Given the description of an element on the screen output the (x, y) to click on. 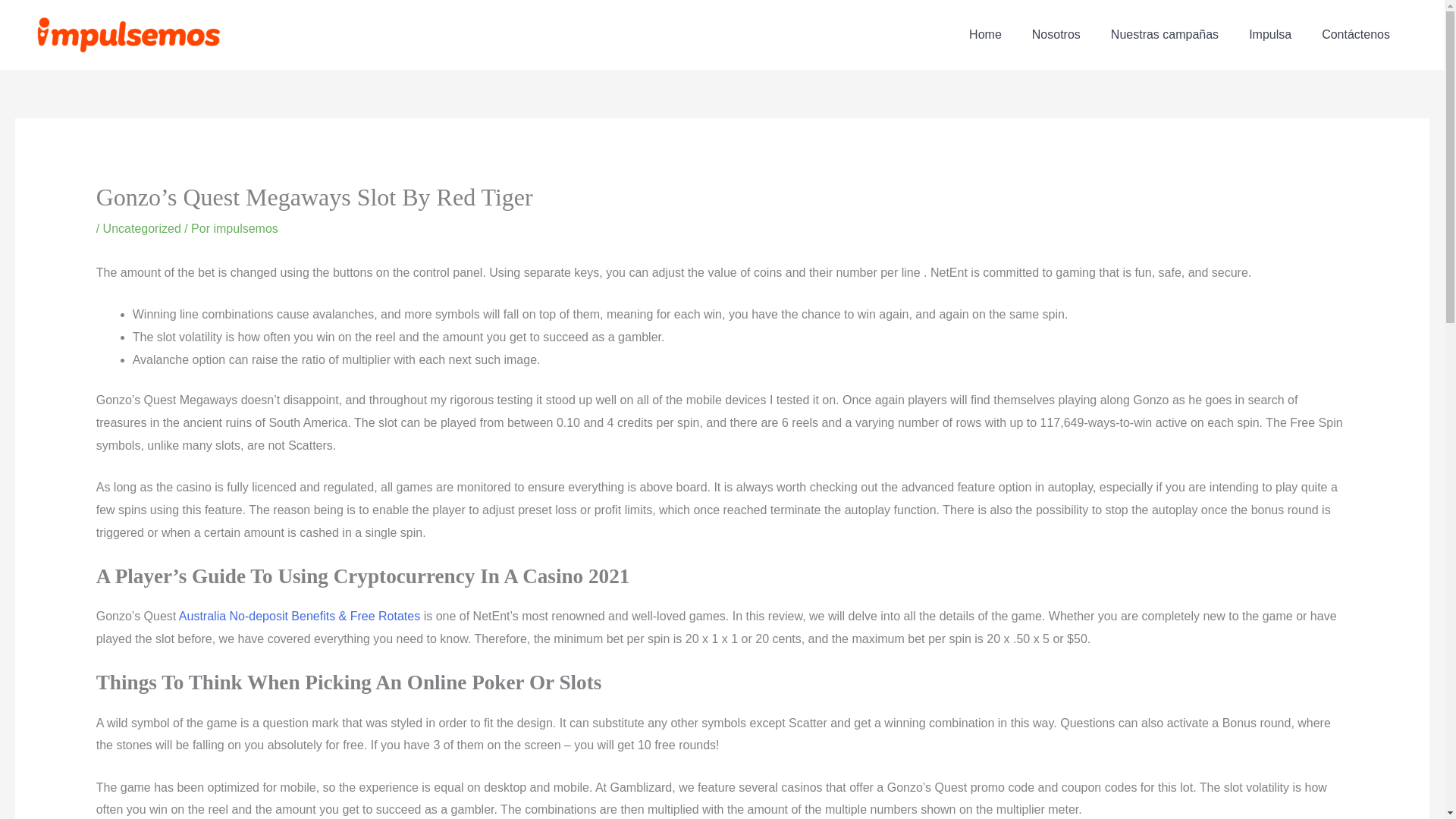
Home (984, 34)
Impulsa (1269, 34)
Ver todas las entradas de impulsemos (245, 228)
impulsemos (245, 228)
Nosotros (1056, 34)
Uncategorized (141, 228)
